Given the description of an element on the screen output the (x, y) to click on. 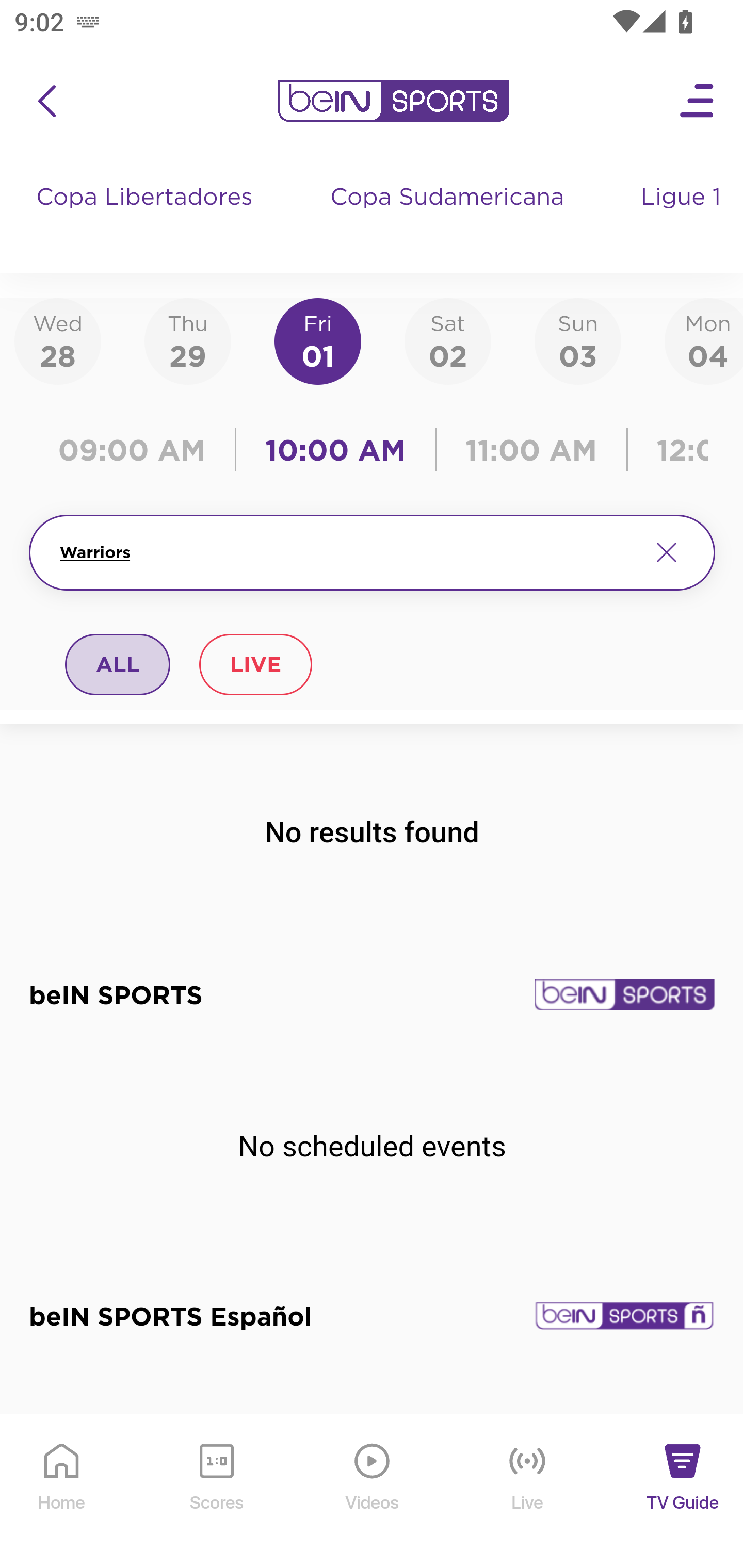
en-us?platform=mobile_android bein logo (392, 101)
icon back (46, 101)
Open Menu Icon (697, 101)
Copa Libertadores (146, 216)
Copa Sudamericana (448, 216)
Ligue 1 (682, 216)
Wed28 (58, 340)
Thu29 (187, 340)
Fri01 (318, 340)
Sat02 (447, 340)
Sun03 (578, 340)
Mon04 (703, 340)
09:00 AM (136, 449)
10:00 AM (335, 449)
11:00 AM (531, 449)
Warriors (346, 552)
ALL (118, 663)
LIVE (255, 663)
Home Home Icon Home (61, 1491)
Scores Scores Icon Scores (216, 1491)
Videos Videos Icon Videos (372, 1491)
TV Guide TV Guide Icon TV Guide (682, 1491)
